Given the description of an element on the screen output the (x, y) to click on. 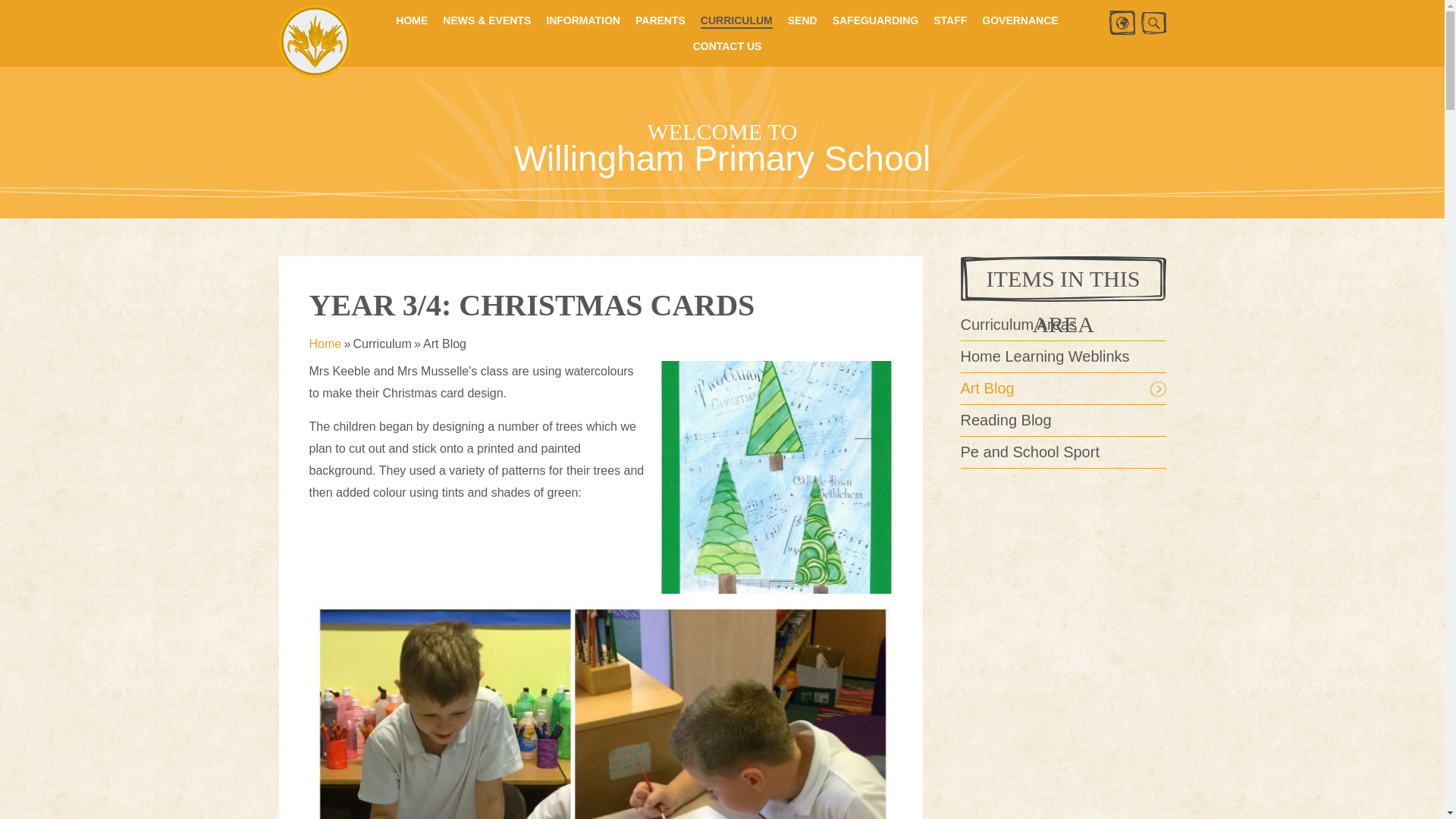
HOME (411, 20)
Search (1153, 23)
INFORMATION (582, 20)
Translate (1121, 22)
